Given the description of an element on the screen output the (x, y) to click on. 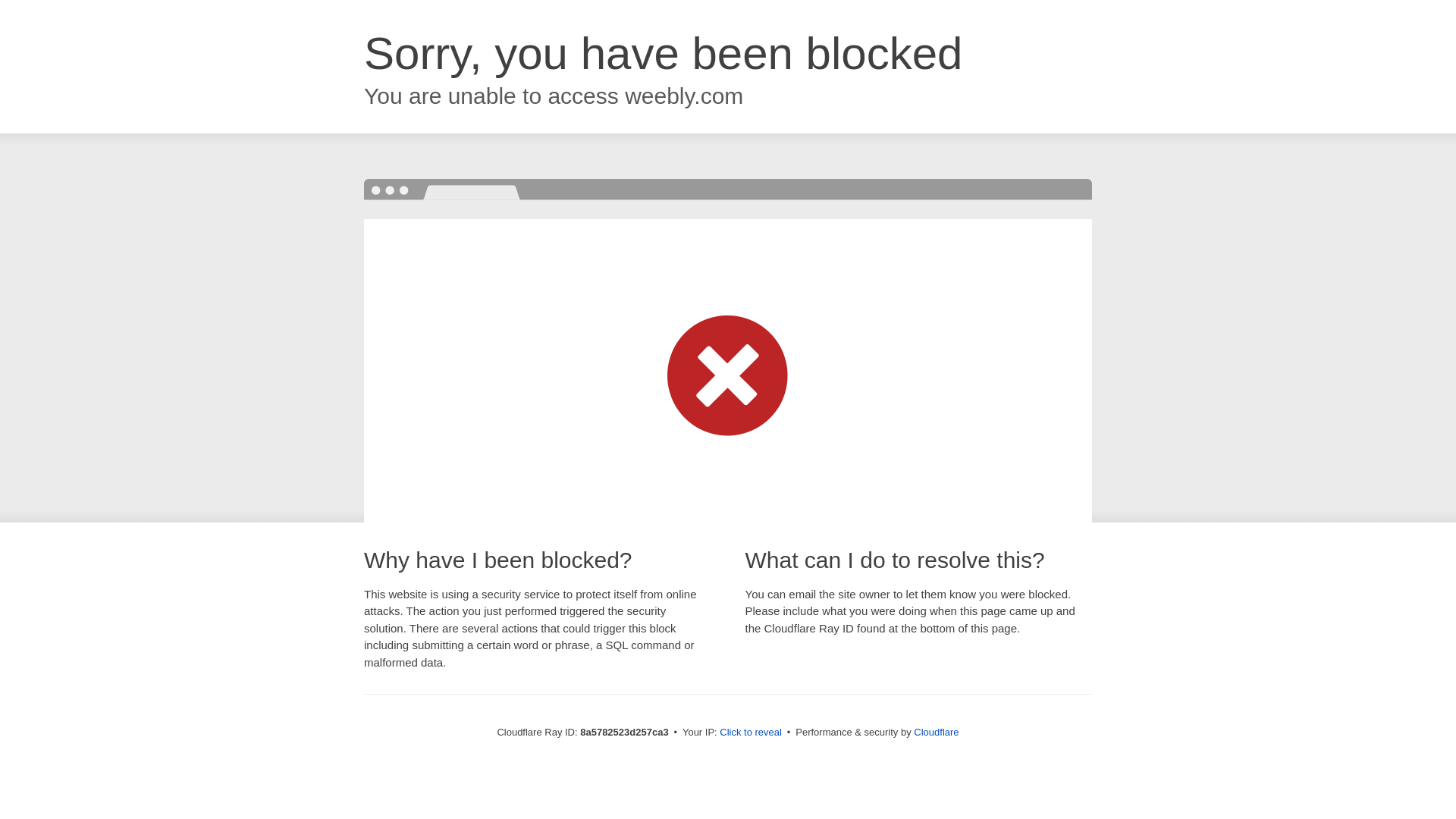
Cloudflare (936, 731)
Click to reveal (750, 732)
